Given the description of an element on the screen output the (x, y) to click on. 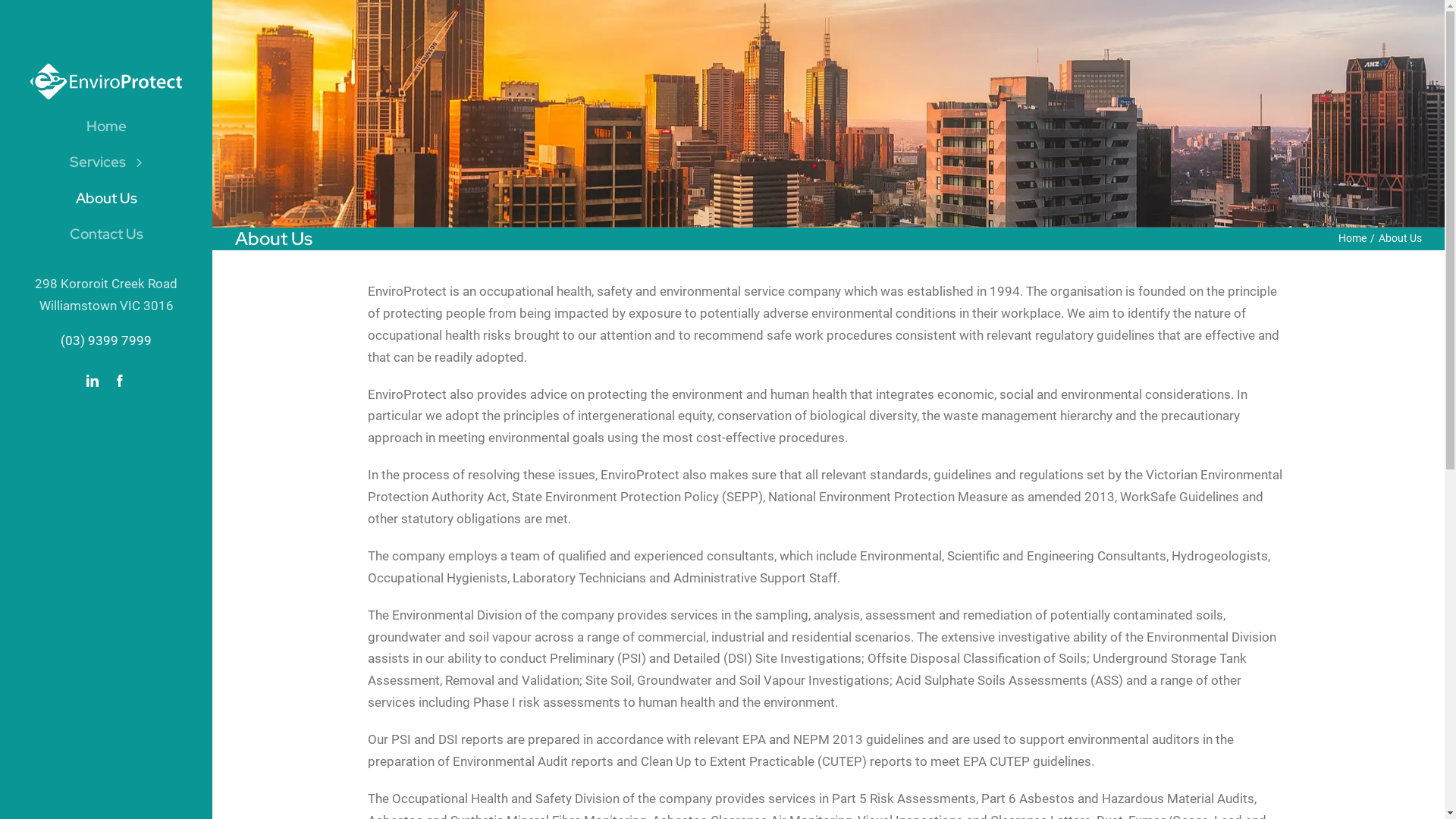
Home Element type: text (106, 126)
(03) 9399 7999 Element type: text (105, 340)
About Us Element type: text (106, 198)
Contact Us Element type: text (106, 234)
Home Element type: text (1352, 238)
Services Element type: text (106, 162)
